Given the description of an element on the screen output the (x, y) to click on. 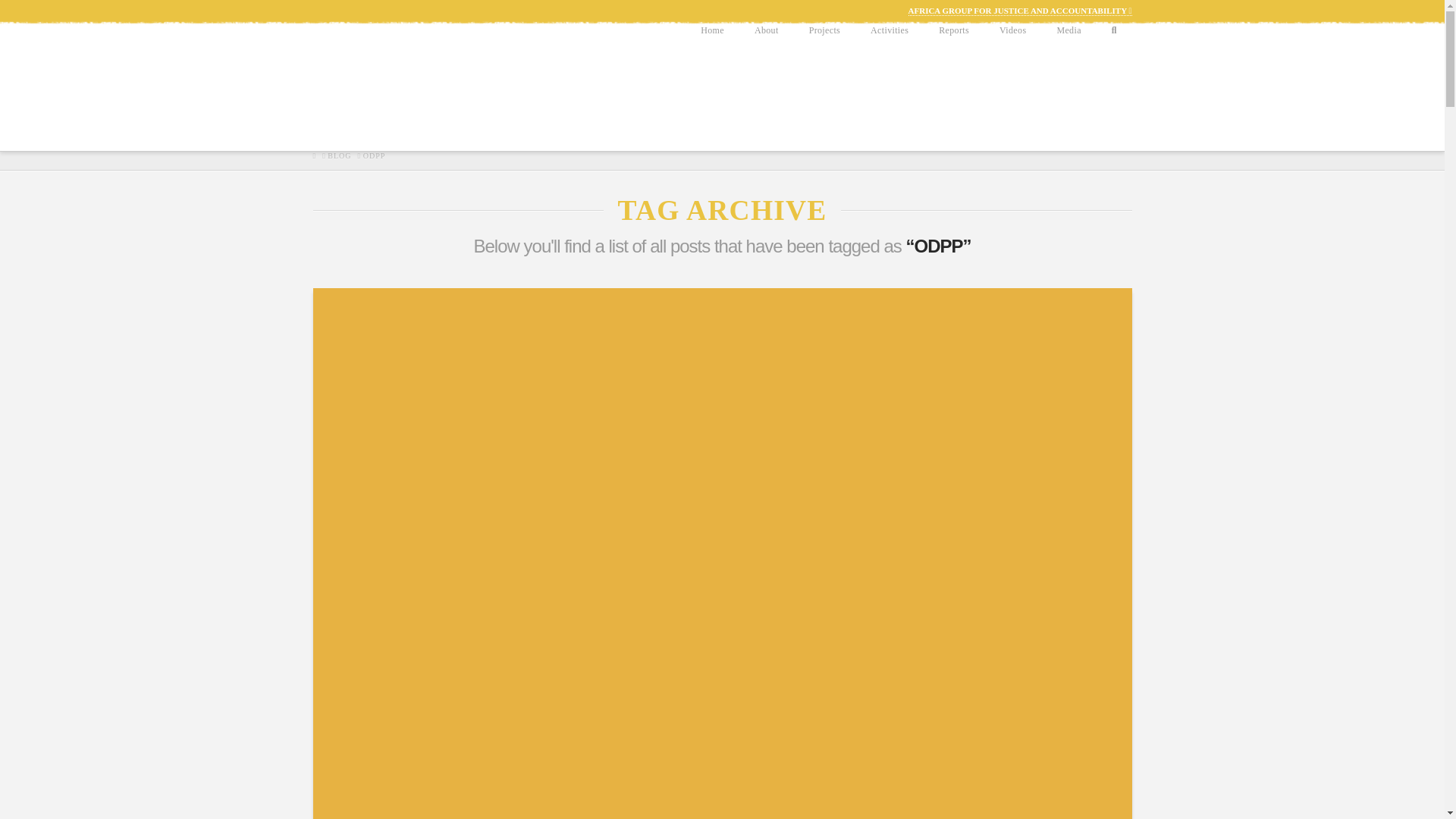
International Justice, Journalism, Capacity Building (380, 93)
AFRICA GROUP FOR JUSTICE AND ACCOUNTABILITY (1020, 10)
Projects (824, 59)
Activities (889, 59)
You Are Here (373, 155)
